Given the description of an element on the screen output the (x, y) to click on. 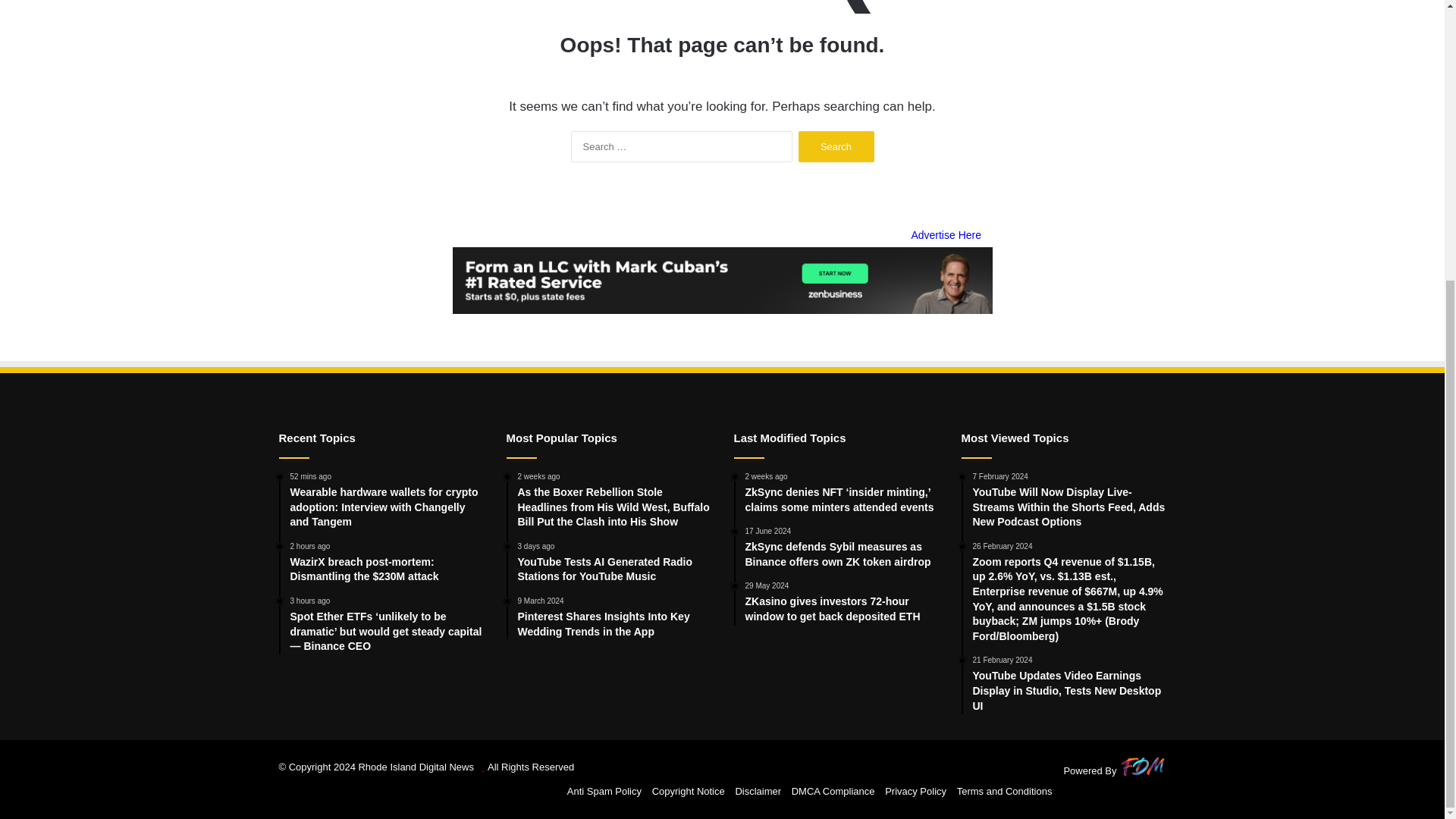
Search (835, 146)
Search (835, 146)
